Given the description of an element on the screen output the (x, y) to click on. 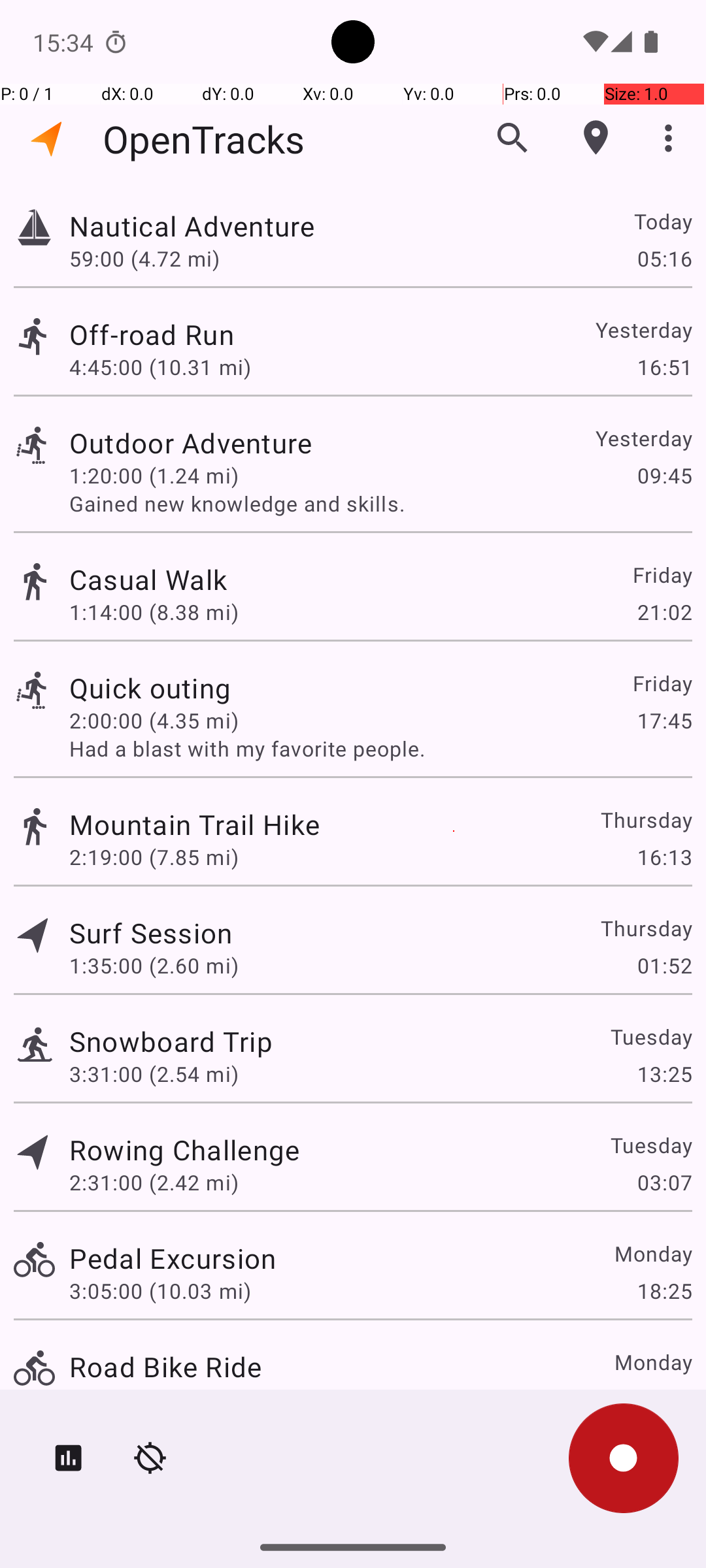
Nautical Adventure Element type: android.widget.TextView (191, 225)
59:00 (4.72 mi) Element type: android.widget.TextView (144, 258)
05:16 Element type: android.widget.TextView (664, 258)
Off-road Run Element type: android.widget.TextView (151, 333)
4:45:00 (10.31 mi) Element type: android.widget.TextView (159, 366)
16:51 Element type: android.widget.TextView (664, 366)
1:20:00 (1.24 mi) Element type: android.widget.TextView (153, 475)
09:45 Element type: android.widget.TextView (664, 475)
Gained new knowledge and skills. Element type: android.widget.TextView (380, 503)
Casual Walk Element type: android.widget.TextView (147, 578)
1:14:00 (8.38 mi) Element type: android.widget.TextView (153, 611)
21:02 Element type: android.widget.TextView (664, 611)
Quick outing Element type: android.widget.TextView (149, 687)
2:00:00 (4.35 mi) Element type: android.widget.TextView (153, 720)
17:45 Element type: android.widget.TextView (664, 720)
Had a blast with my favorite people. Element type: android.widget.TextView (380, 748)
Mountain Trail Hike Element type: android.widget.TextView (194, 823)
2:19:00 (7.85 mi) Element type: android.widget.TextView (153, 856)
16:13 Element type: android.widget.TextView (664, 856)
Surf Session Element type: android.widget.TextView (150, 932)
1:35:00 (2.60 mi) Element type: android.widget.TextView (153, 965)
01:52 Element type: android.widget.TextView (664, 965)
Snowboard Trip Element type: android.widget.TextView (170, 1040)
3:31:00 (2.54 mi) Element type: android.widget.TextView (153, 1073)
13:25 Element type: android.widget.TextView (664, 1073)
Rowing Challenge Element type: android.widget.TextView (184, 1149)
2:31:00 (2.42 mi) Element type: android.widget.TextView (153, 1182)
03:07 Element type: android.widget.TextView (664, 1182)
Pedal Excursion Element type: android.widget.TextView (172, 1257)
3:05:00 (10.03 mi) Element type: android.widget.TextView (159, 1290)
18:25 Element type: android.widget.TextView (664, 1290)
Road Bike Ride Element type: android.widget.TextView (165, 1366)
3:22:00 (8.15 mi) Element type: android.widget.TextView (153, 1399)
05:11 Element type: android.widget.TextView (664, 1399)
